Given the description of an element on the screen output the (x, y) to click on. 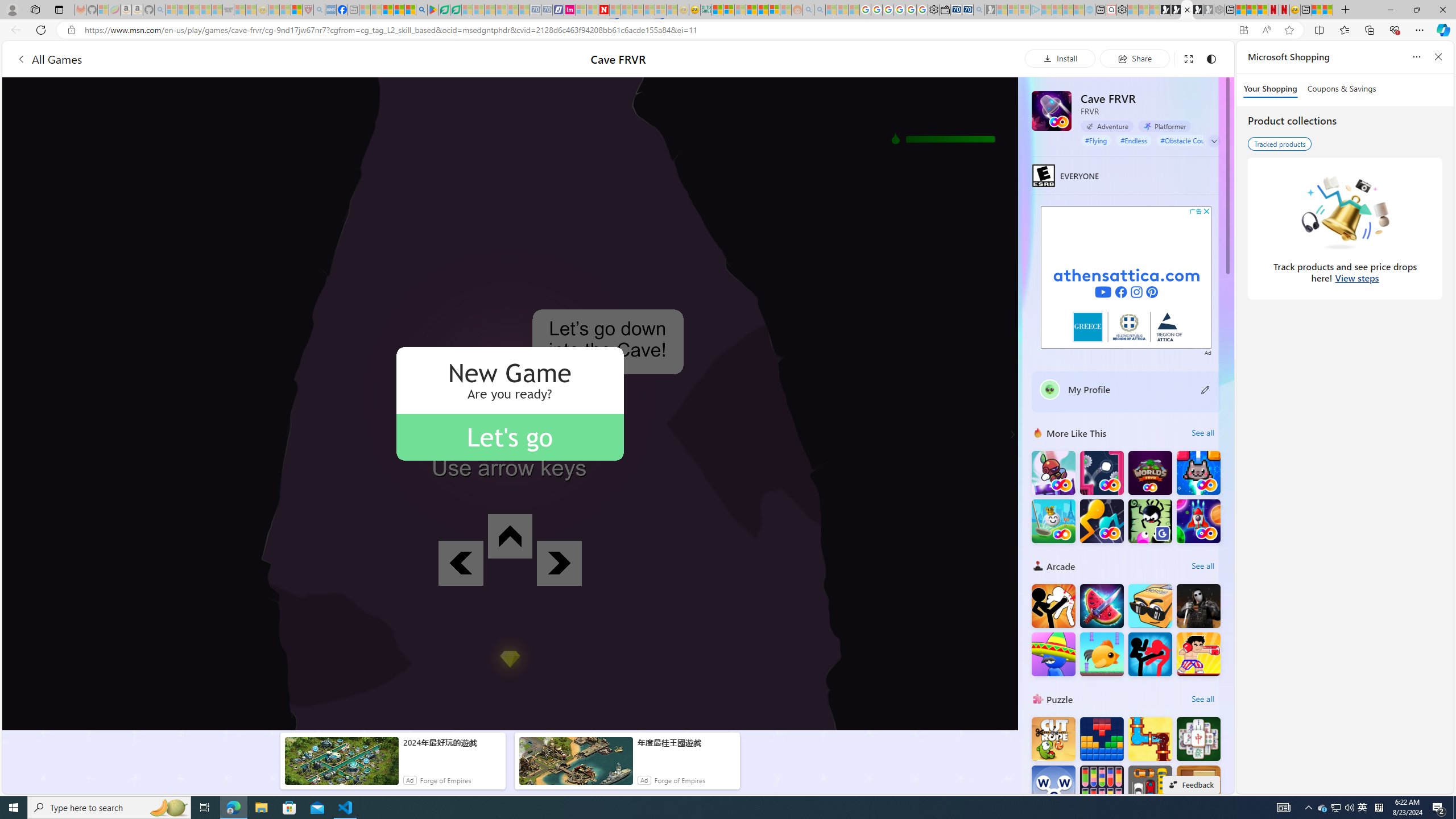
Change to dark mode (1211, 58)
EXIT : unblock red wood block (1198, 787)
Platformer (1164, 126)
Latest Politics News & Archive | Newsweek.com (603, 9)
Microsoft Word - consumer-privacy address update 2.2021 (455, 9)
Utah sues federal government - Search - Sleeping (819, 9)
Install (1060, 58)
